Given the description of an element on the screen output the (x, y) to click on. 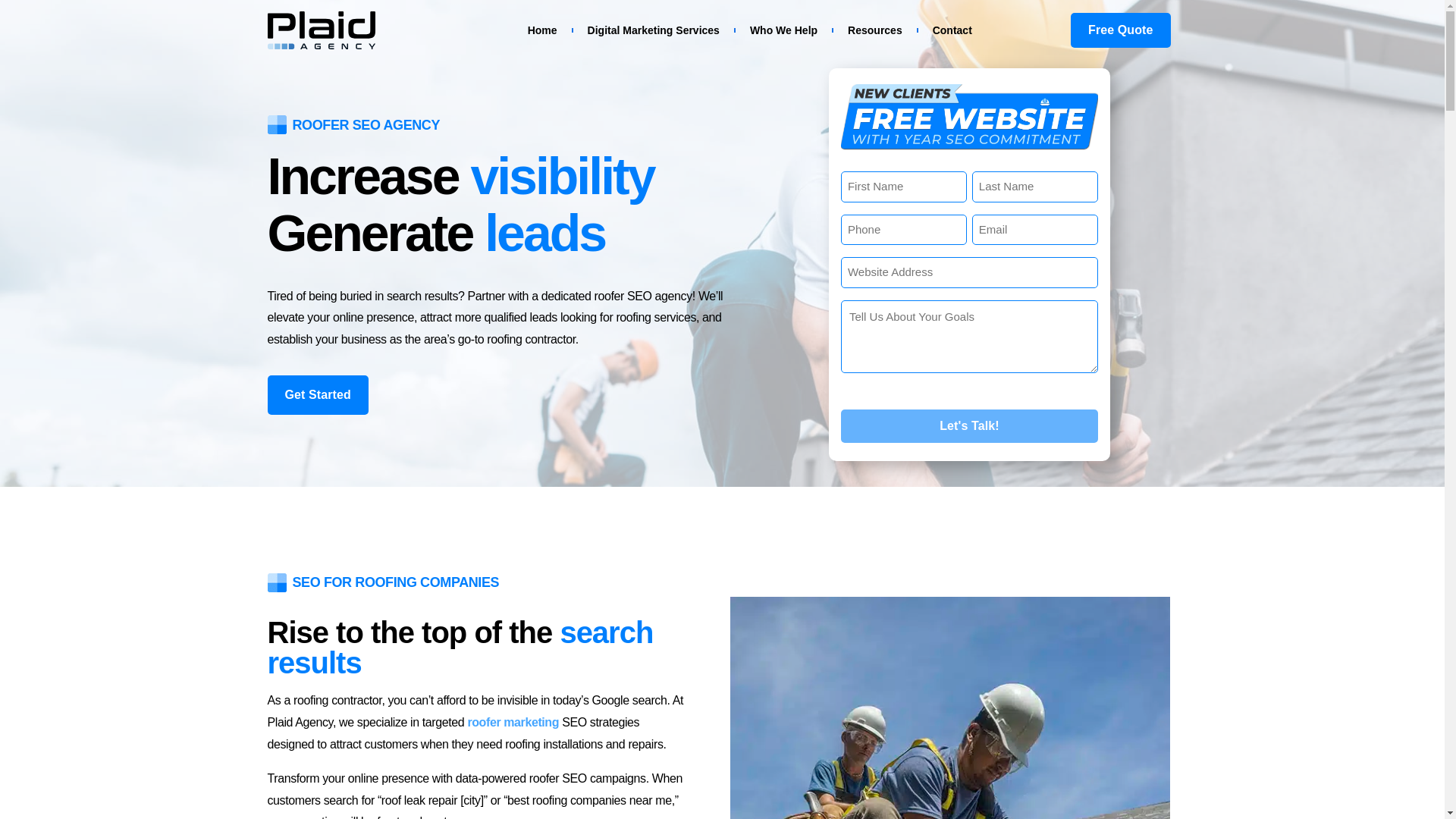
Let's Talk! (969, 426)
Digital Marketing Services (653, 30)
Roofer SEO Agency (969, 146)
Resources (874, 30)
Home (542, 30)
Contact (952, 30)
Who We Help (783, 30)
plaid-blue-icon-xsmall (275, 582)
plaid-blue-icon-xsmall (275, 124)
